Given the description of an element on the screen output the (x, y) to click on. 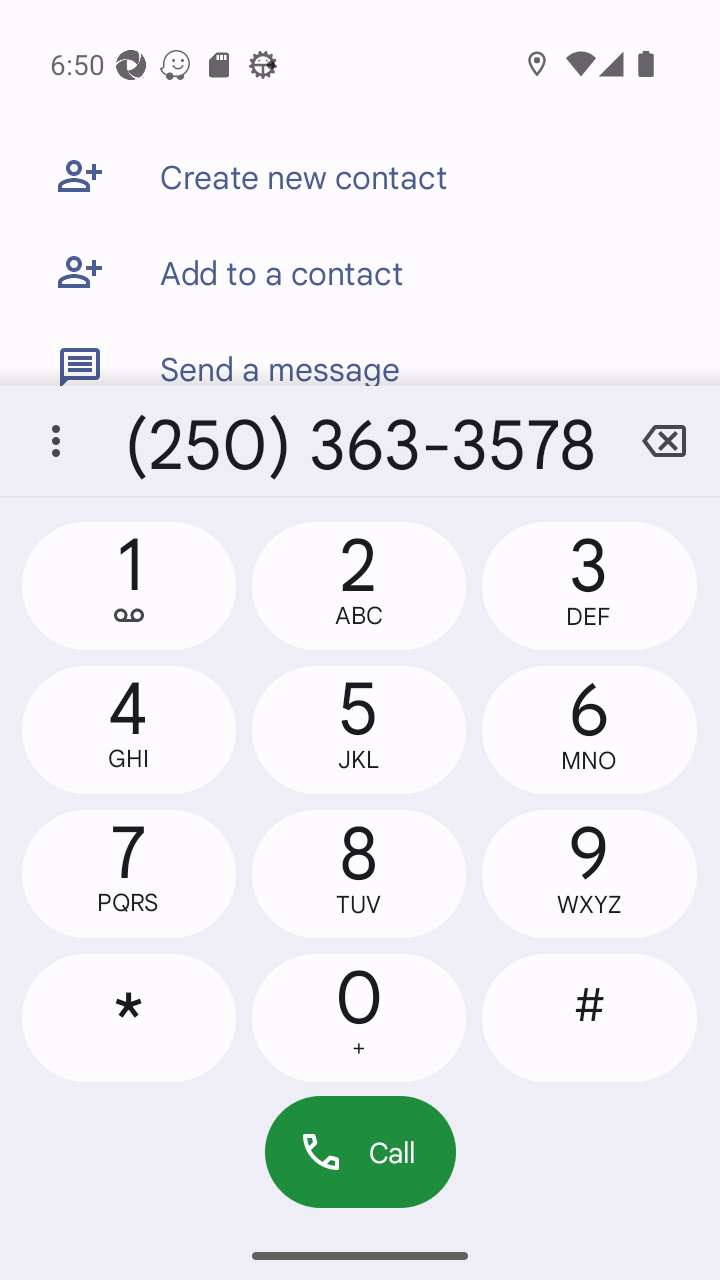
Create new contact (360, 176)
Add to a contact (360, 272)
Send a message (360, 353)
More options (56, 441)
(250) 363-3578 (359, 441)
backspace (663, 441)
1, 1 (129, 586)
2,ABC 2 ABC (358, 586)
3,DEF 3 DEF (588, 586)
4,GHI 4 GHI (129, 729)
5,JKL 5 JKL (358, 729)
6,MNO 6 MNO (588, 729)
7,PQRS 7 PQRS (129, 874)
8,TUV 8 TUV (358, 874)
9,WXYZ 9 WXYZ (588, 874)
* (129, 1017)
0 0 + (358, 1017)
# (588, 1017)
Call dial (359, 1151)
